Given the description of an element on the screen output the (x, y) to click on. 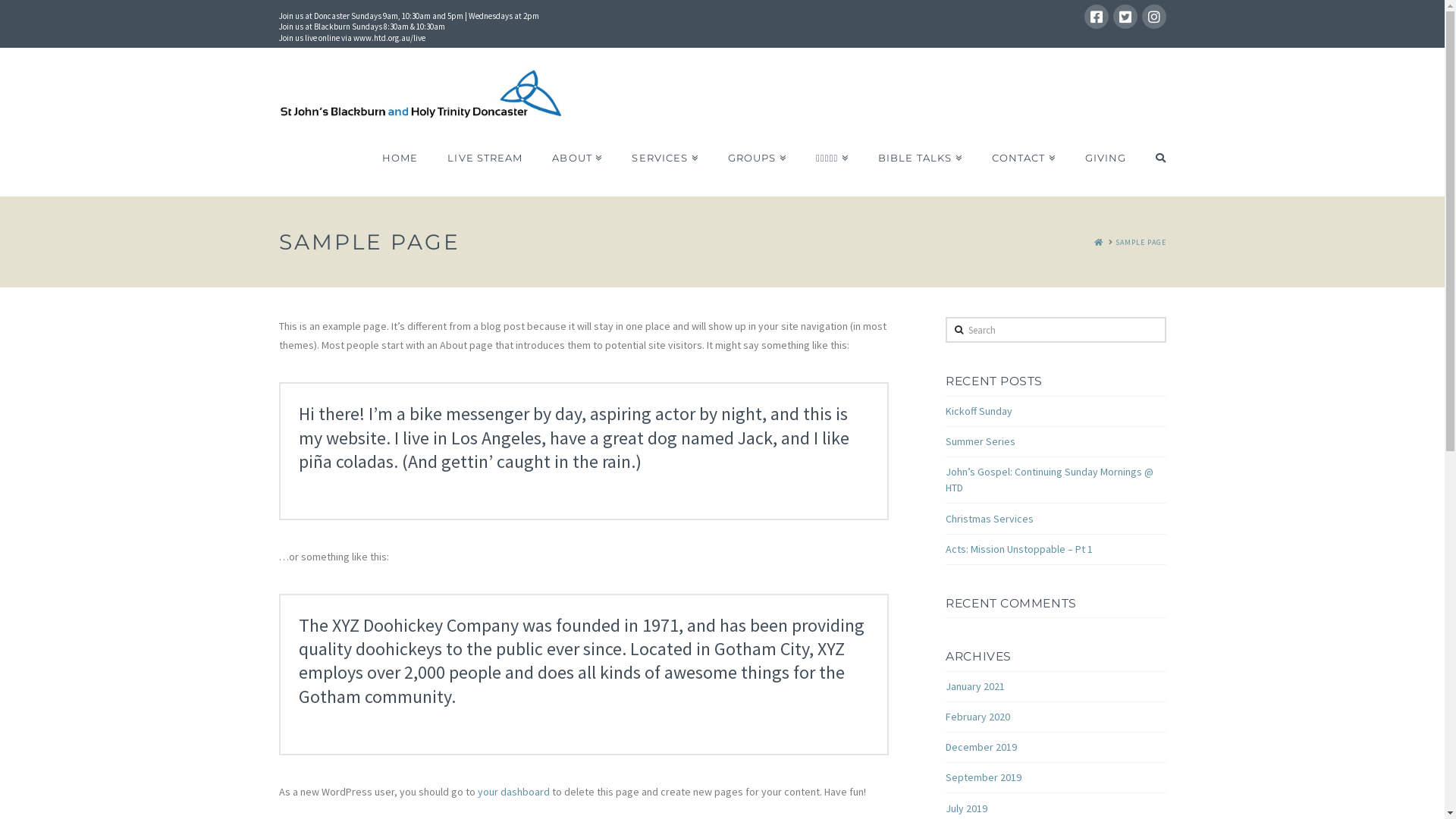
Christmas Services Element type: text (989, 517)
January 2021 Element type: text (974, 686)
Instagram Element type: hover (1154, 16)
LIVE STREAM Element type: text (484, 158)
GIVING Element type: text (1105, 158)
September 2019 Element type: text (983, 777)
February 2020 Element type: text (977, 716)
GROUPS Element type: text (756, 158)
December 2019 Element type: text (980, 746)
SERVICES Element type: text (664, 158)
HOME Element type: text (399, 158)
Summer Series Element type: text (980, 441)
CONTACT Element type: text (1023, 158)
Kickoff Sunday Element type: text (978, 410)
your dashboard Element type: text (513, 791)
Facebook Element type: hover (1096, 16)
Twitter Element type: hover (1125, 16)
July 2019 Element type: text (966, 807)
ABOUT Element type: text (576, 158)
BIBLE TALKS Element type: text (919, 158)
SAMPLE PAGE Element type: text (1139, 242)
HOME Element type: text (1097, 242)
